Given the description of an element on the screen output the (x, y) to click on. 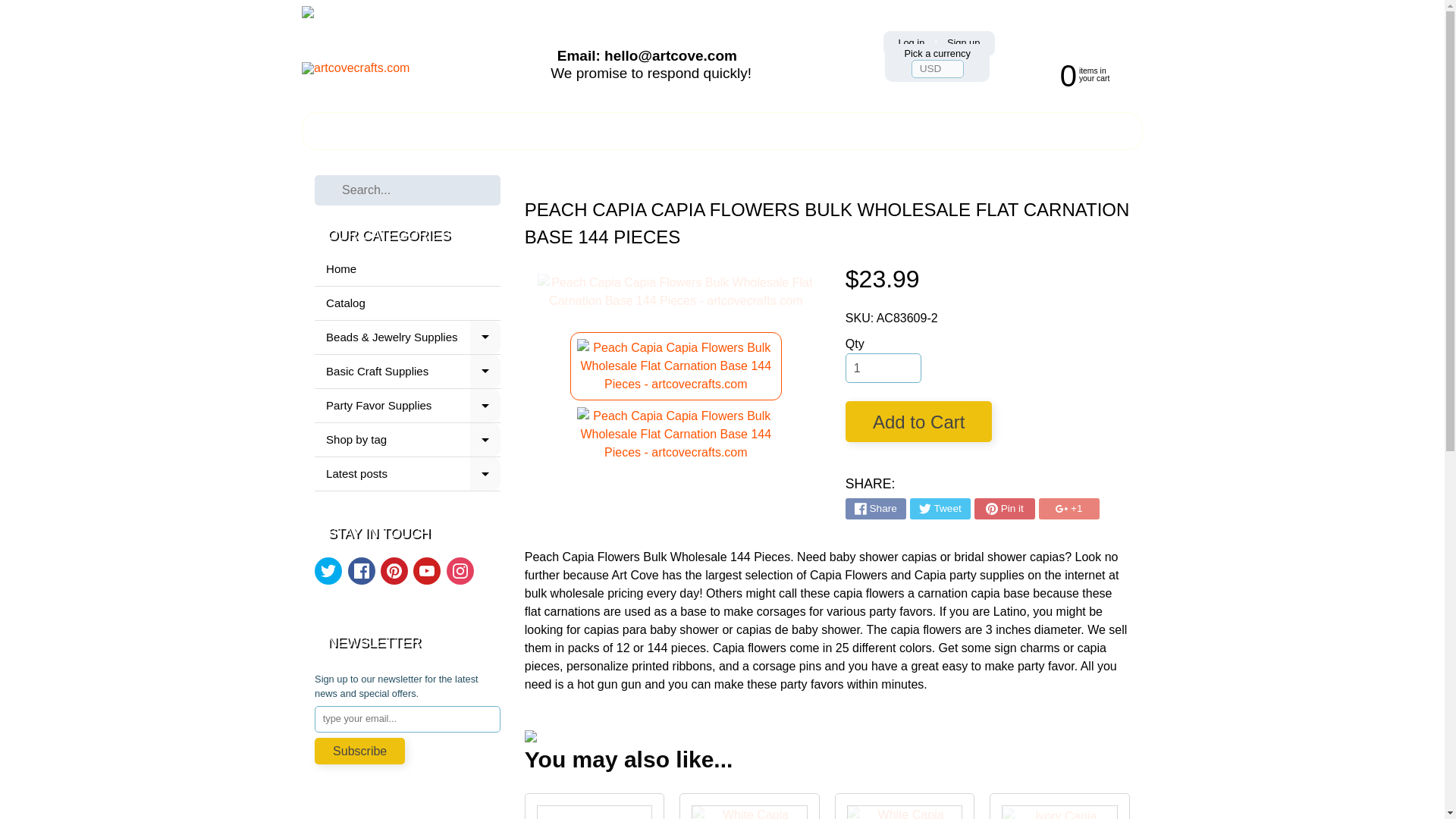
BLOG (847, 131)
HOME (407, 371)
1.5 inch Pearl Head Corsage Pins 144 Pieces (492, 131)
CATEGORIES (594, 806)
Tweet on Twitter (668, 131)
Youtube (940, 508)
Log in (427, 570)
ABOUT US (911, 43)
CONTACT US (570, 131)
Expand child menu (933, 131)
Twitter (485, 337)
Instagram (328, 570)
Pin on Pinterest (460, 570)
PRODUCTS (1004, 508)
